Given the description of an element on the screen output the (x, y) to click on. 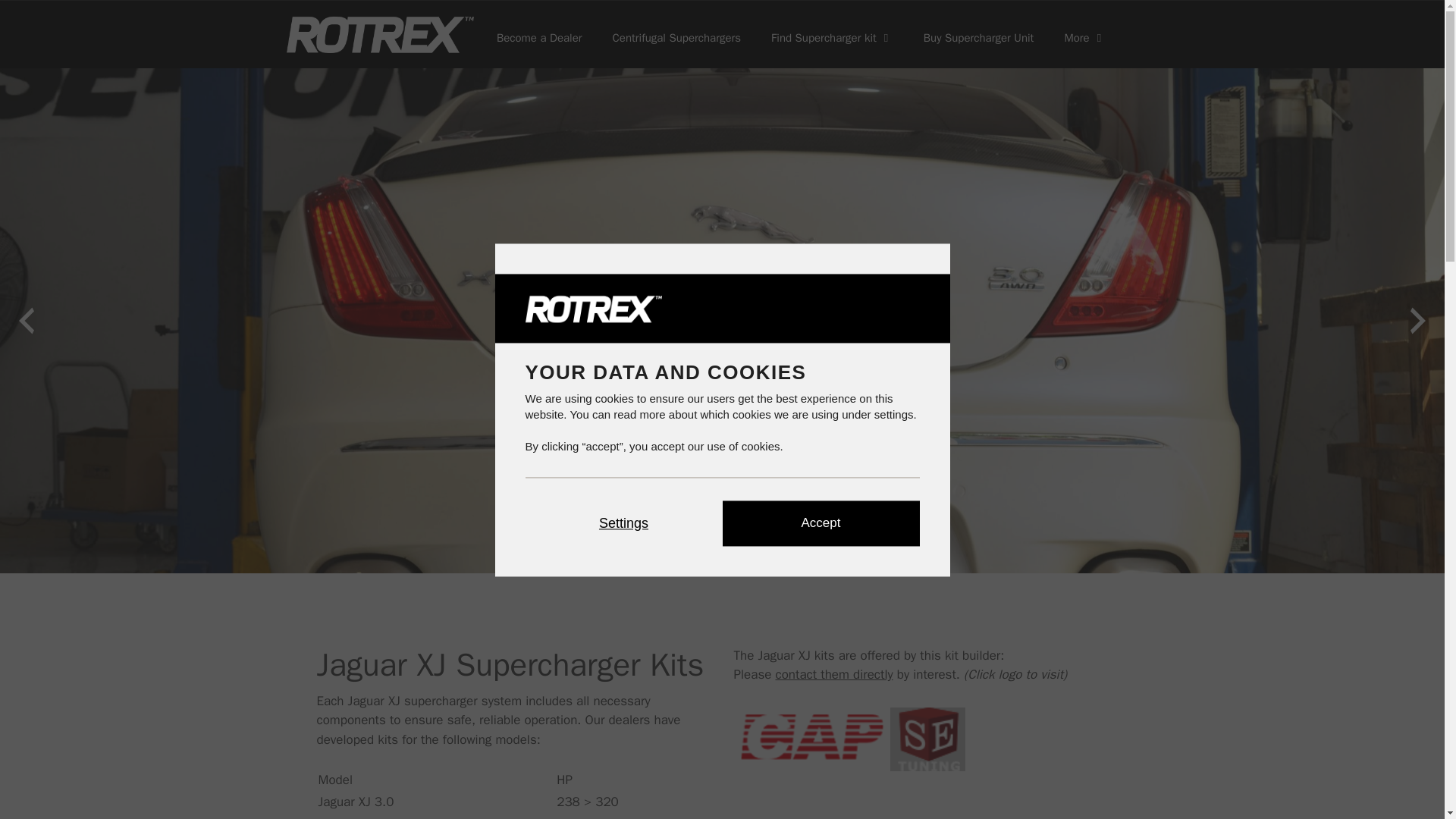
Buy Supercharger Unit (978, 33)
Centrifugal Superchargers (676, 33)
More (1084, 33)
Become a Dealer (538, 33)
Find Supercharger kit (831, 33)
Search (35, 18)
